Given the description of an element on the screen output the (x, y) to click on. 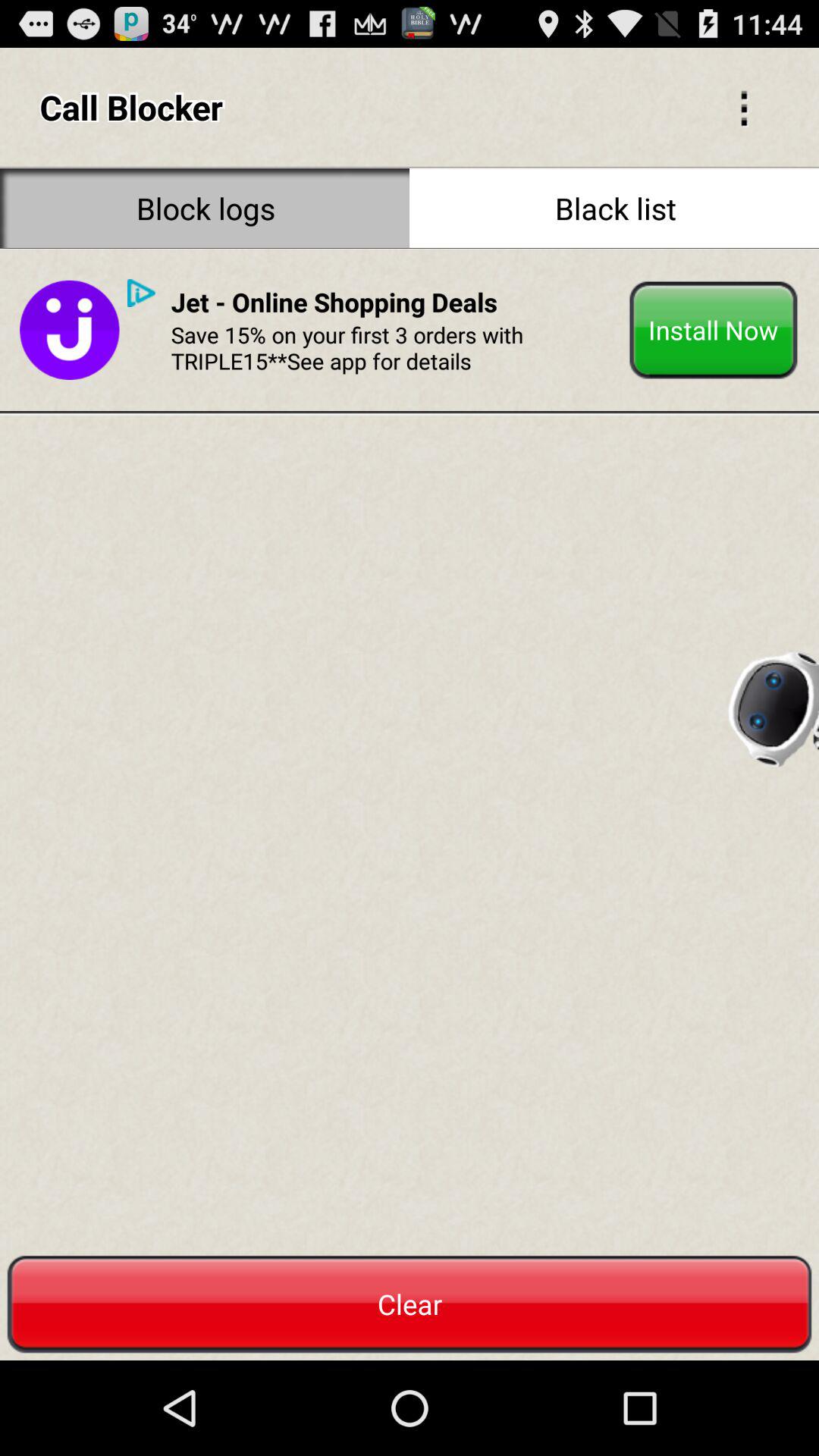
swipe to save 15 on icon (394, 347)
